Given the description of an element on the screen output the (x, y) to click on. 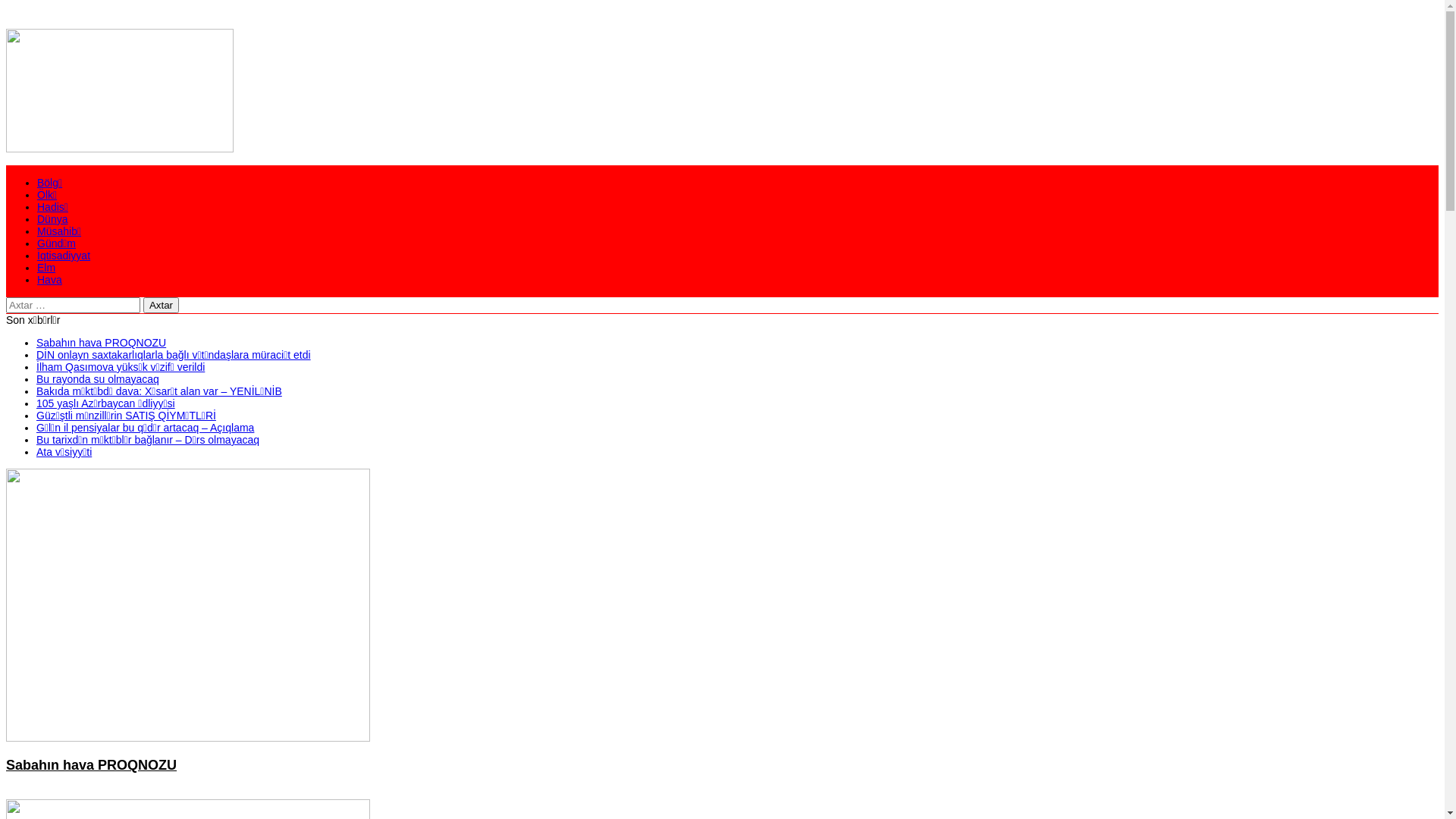
Elm Element type: text (46, 267)
Hava Element type: text (49, 279)
Bu rayonda su olmayacaq Element type: text (97, 379)
Axtar Element type: text (160, 305)
